Given the description of an element on the screen output the (x, y) to click on. 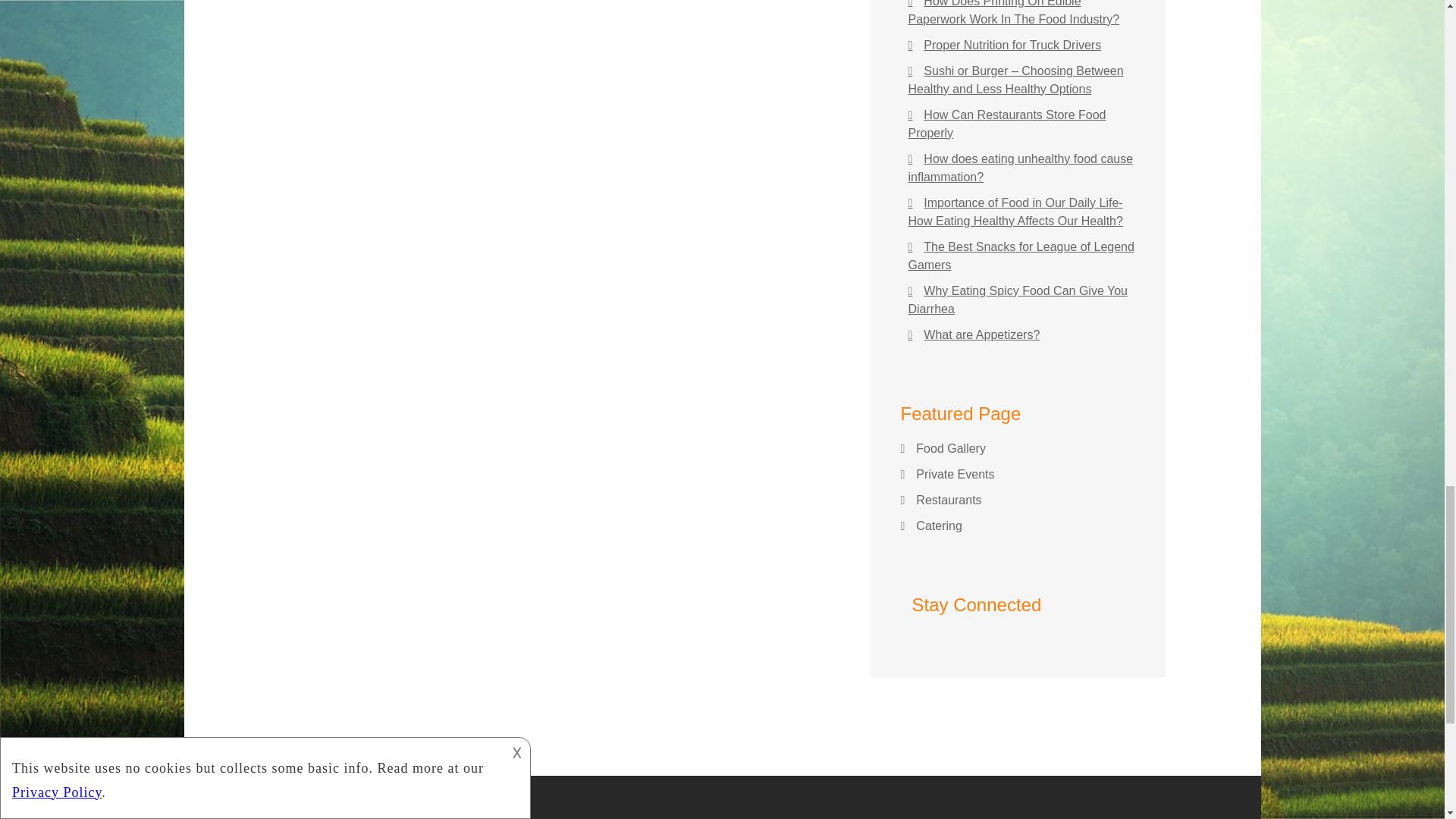
How does eating unhealthy food cause inflammation? (1021, 167)
The Best Snacks for League of Legend Gamers (1021, 255)
Proper Nutrition for Truck Drivers (1005, 44)
How Can Restaurants Store Food Properly (1007, 123)
